Given the description of an element on the screen output the (x, y) to click on. 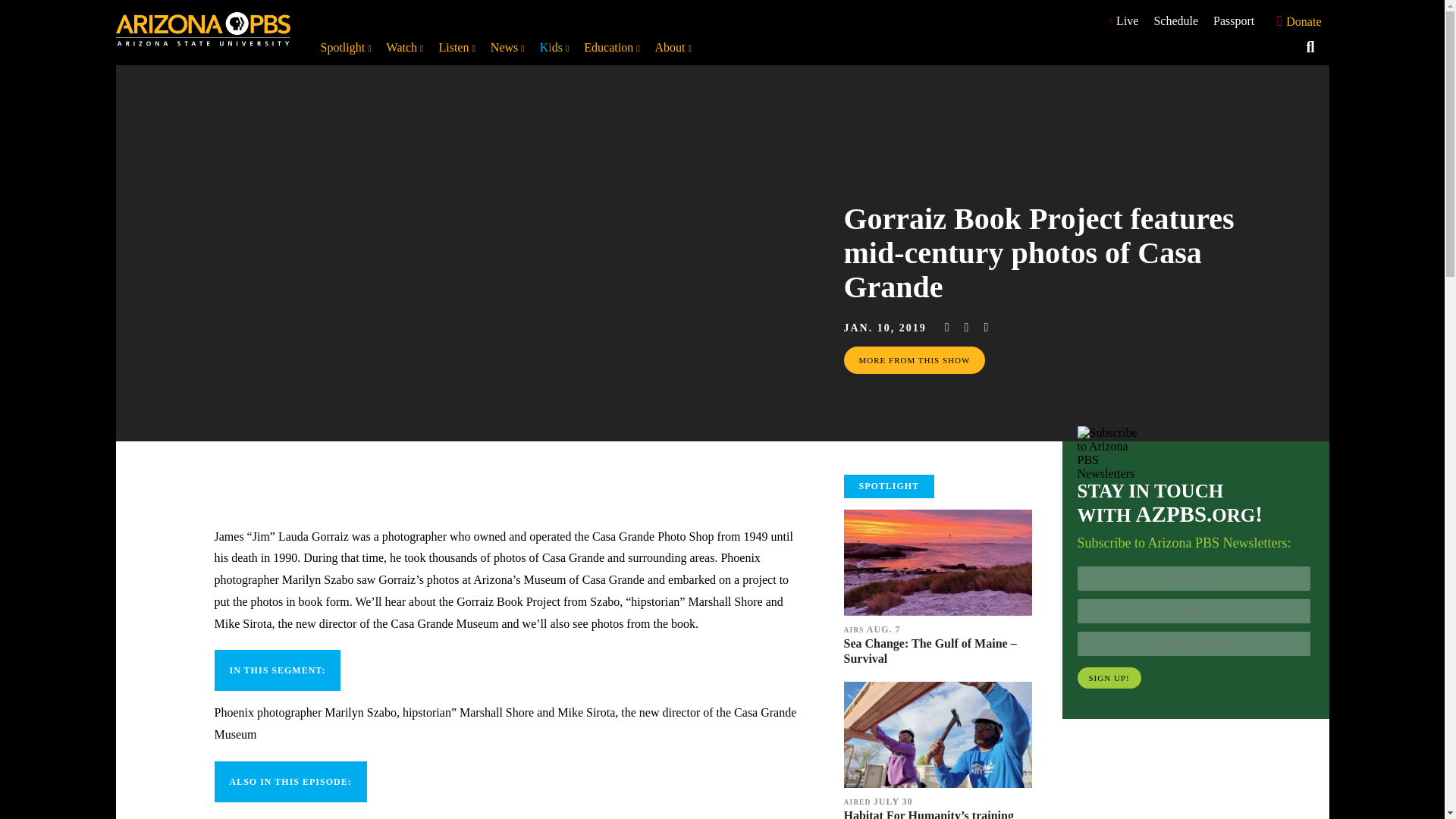
Sign up! (1108, 677)
Spotlight (345, 47)
Passport (1233, 20)
Donate (1294, 20)
Passport (1232, 19)
Schedule (1175, 20)
SKIP TO CONTENT (15, 7)
Watch (404, 47)
Schedule (1175, 19)
Donate (1294, 21)
